Given the description of an element on the screen output the (x, y) to click on. 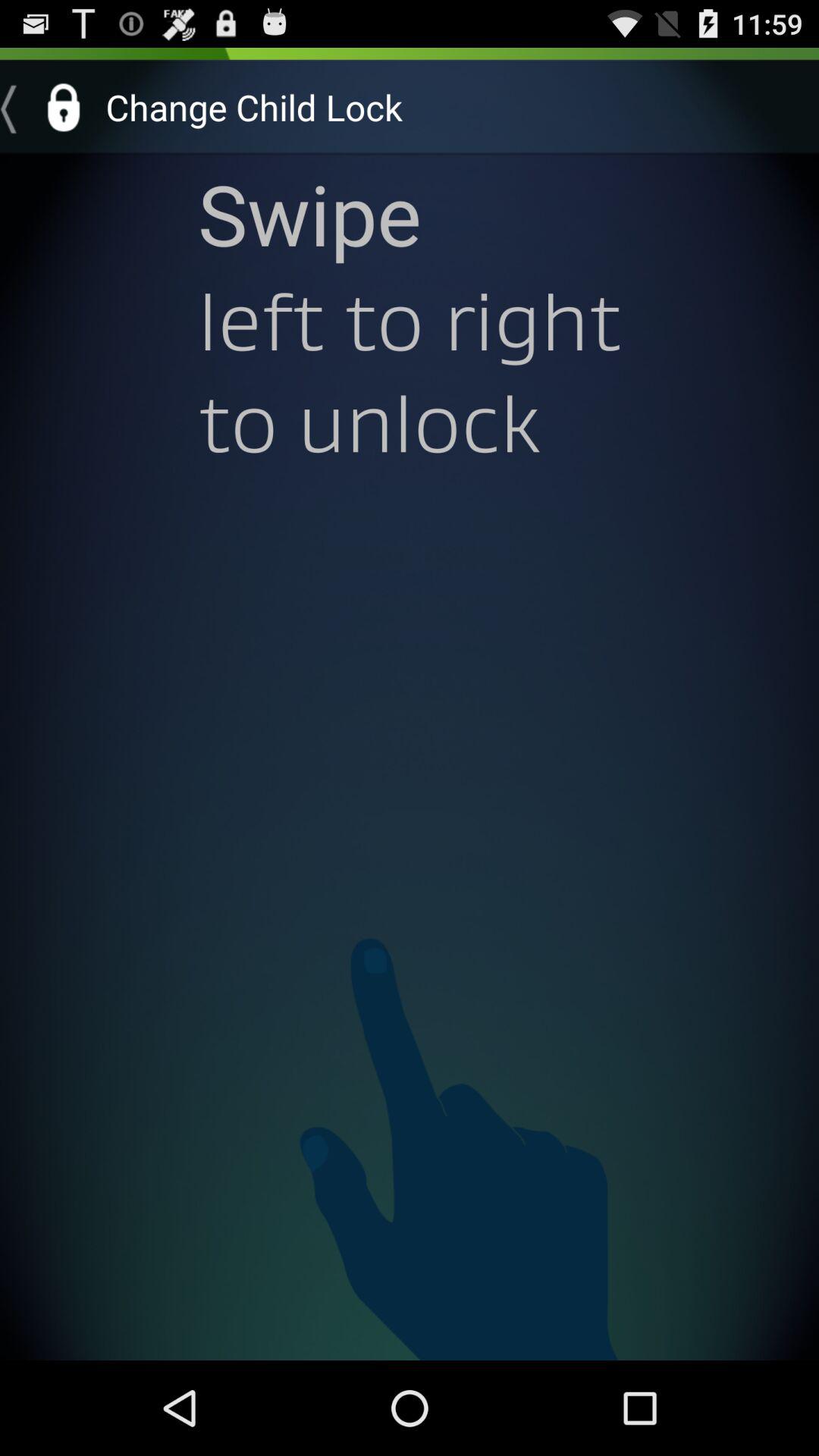
select the icon to the left of the change child lock icon (47, 107)
